Given the description of an element on the screen output the (x, y) to click on. 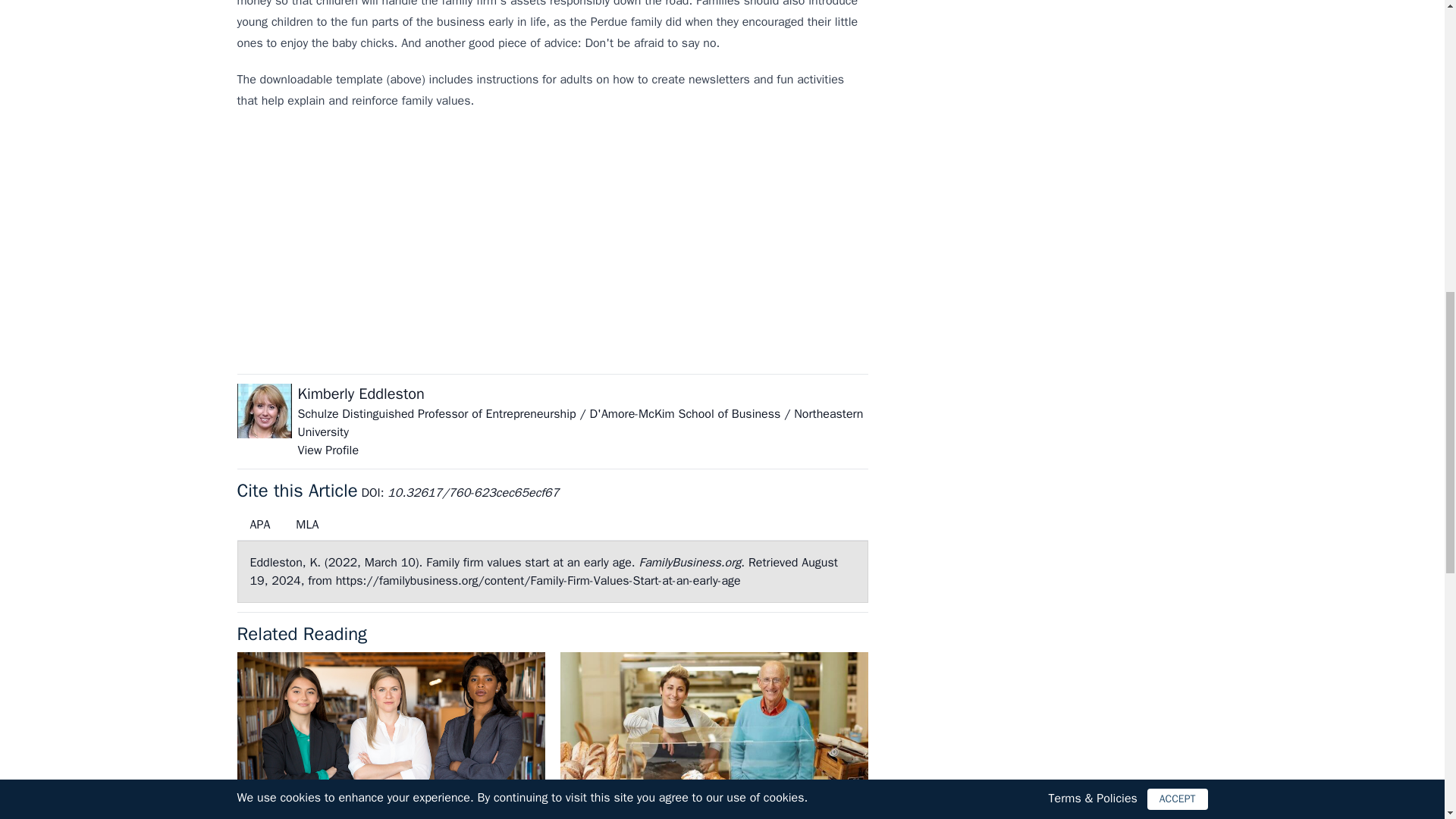
MLA (306, 524)
APA (258, 524)
YouTube video player (448, 245)
Kimberly Eddleston (360, 393)
View Profile (327, 450)
